Given the description of an element on the screen output the (x, y) to click on. 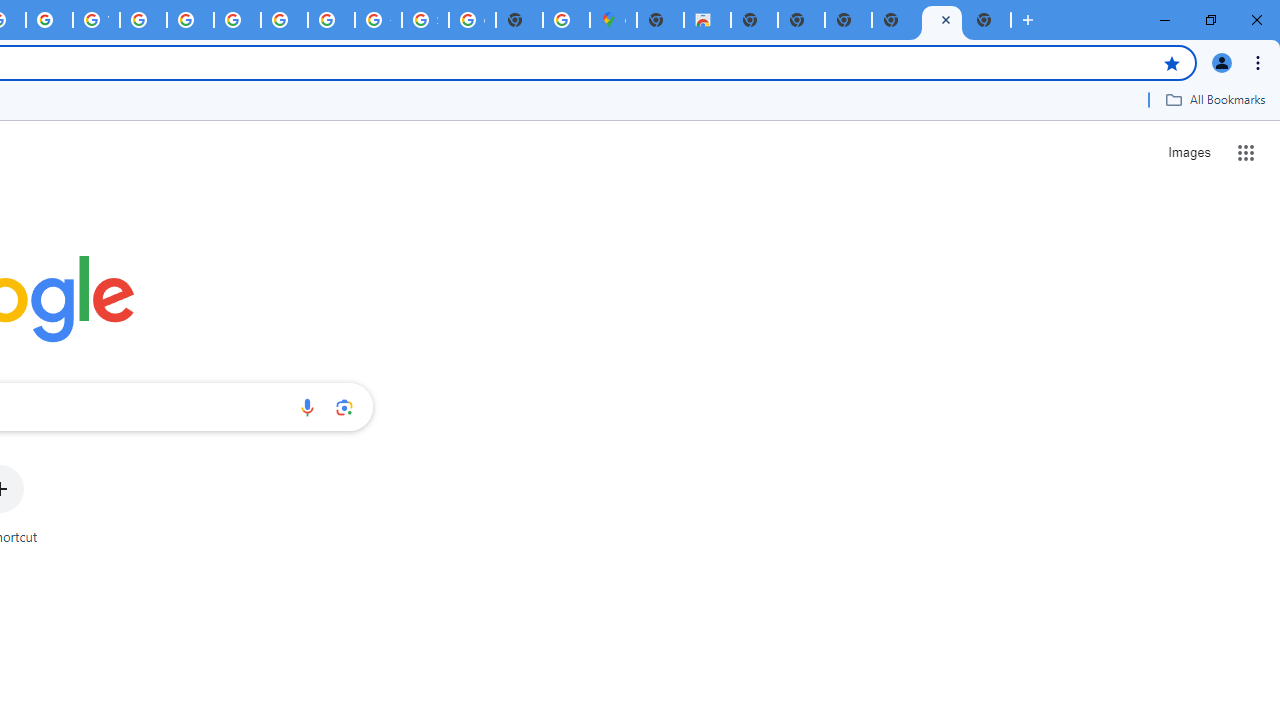
New Tab (660, 20)
YouTube (96, 20)
New Tab (988, 20)
Search by voice (307, 407)
Search for Images  (1188, 152)
